Given the description of an element on the screen output the (x, y) to click on. 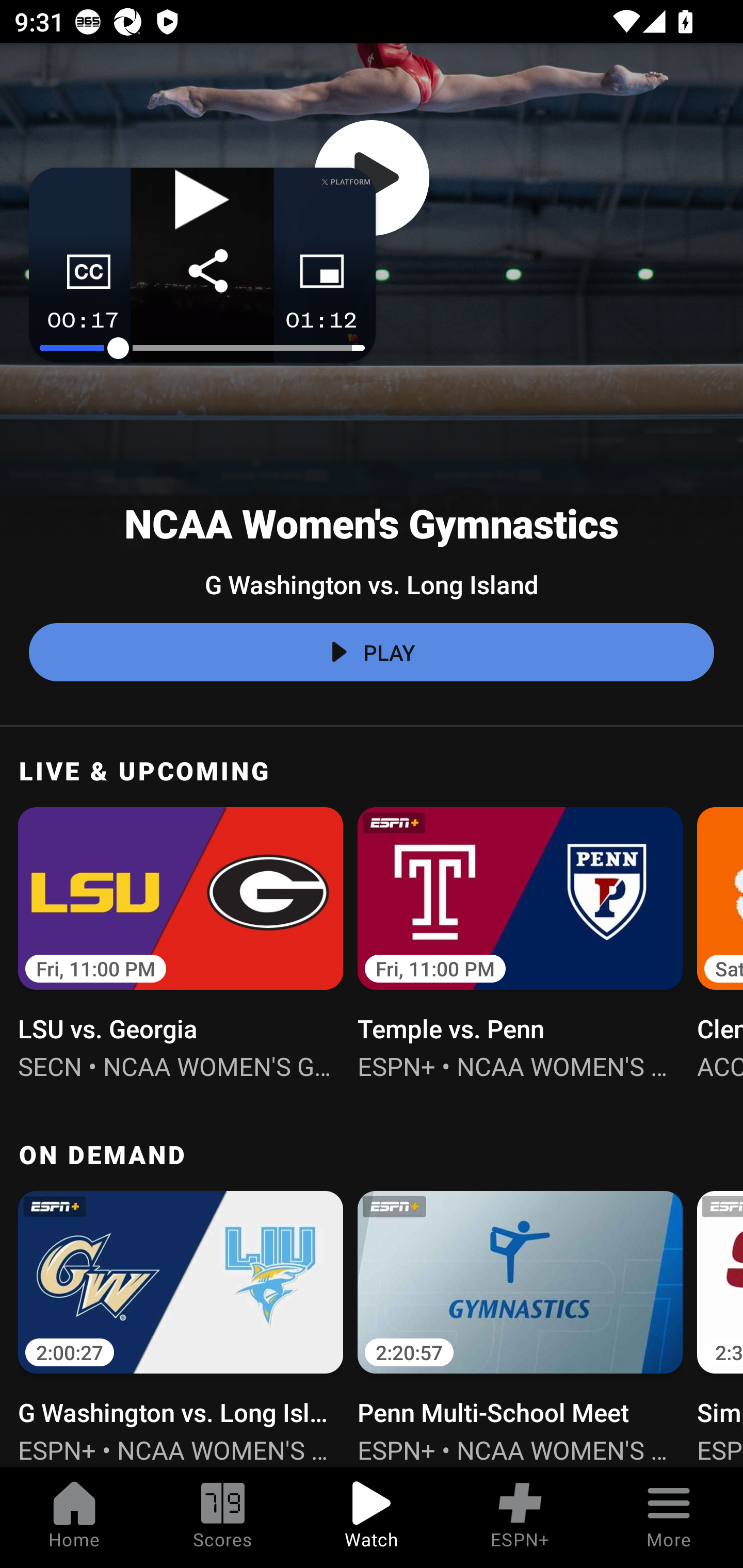
 (371, 177)
PLAY (371, 652)
Home (74, 1517)
Scores (222, 1517)
ESPN+ (519, 1517)
More (668, 1517)
